Given the description of an element on the screen output the (x, y) to click on. 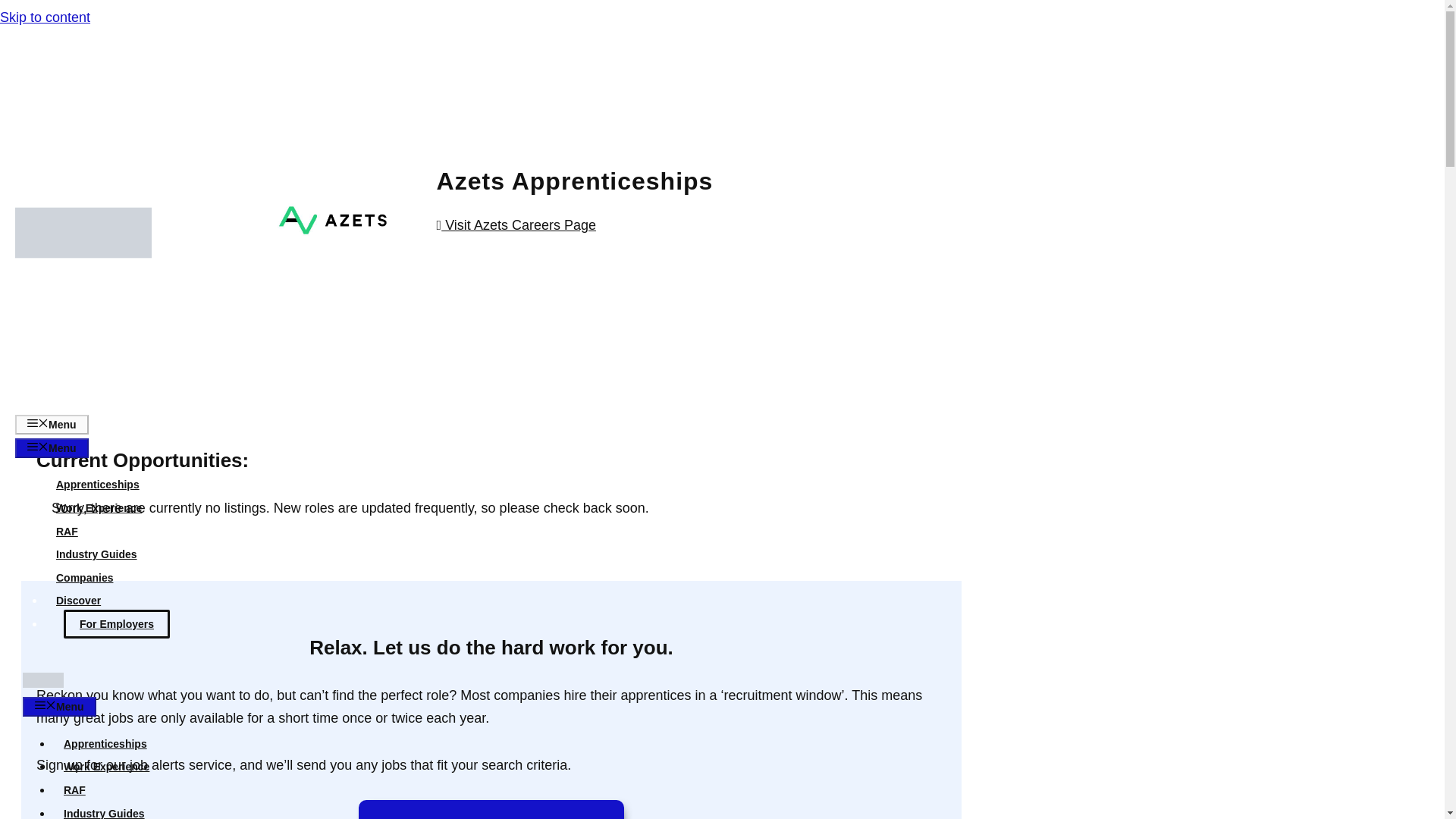
Industry Guides (96, 553)
Discover (78, 600)
RAF (74, 789)
Industry Guides (103, 812)
For Employers (117, 623)
RAF (66, 531)
Get emailed when new roles go live (490, 809)
Skip to content (45, 17)
Visit Azets Careers Page (518, 224)
Work Experience (106, 766)
Best Apprenticeships (43, 684)
Apprenticeships (97, 484)
Companies (84, 577)
Skip to content (45, 17)
Apprenticeships (104, 743)
